Given the description of an element on the screen output the (x, y) to click on. 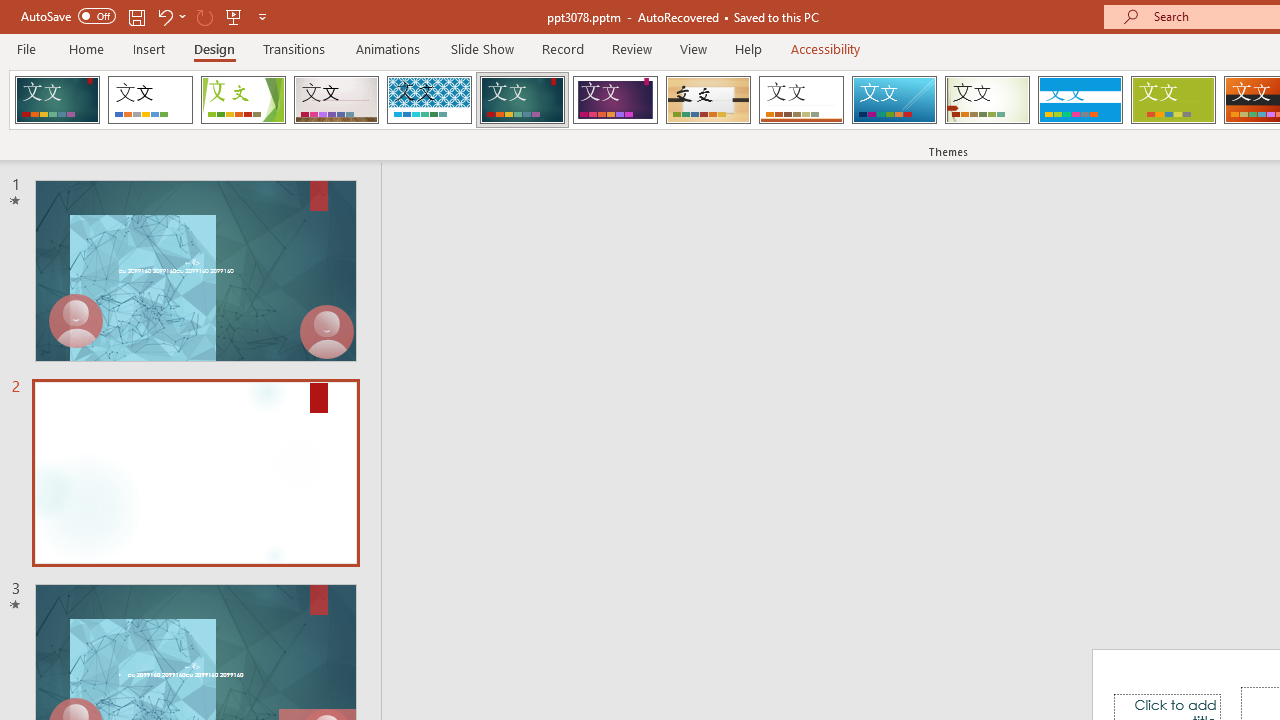
Office Theme (150, 100)
Ion (522, 100)
Banded (1080, 100)
Facet (243, 100)
Basis (1172, 100)
